Given the description of an element on the screen output the (x, y) to click on. 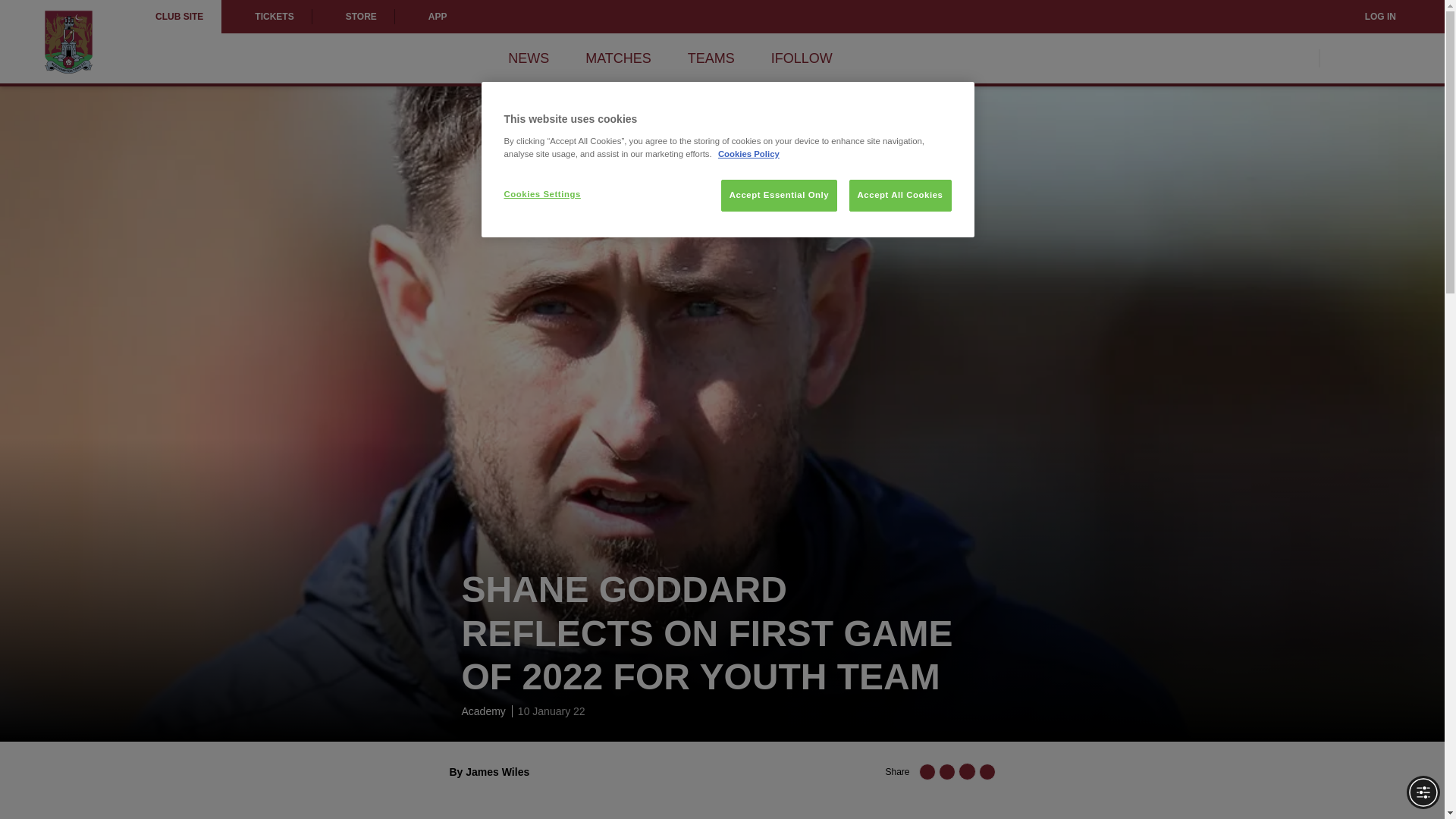
STORE (353, 16)
Accessibility Menu (1422, 792)
MATCHES (617, 58)
Help widget launcher (75, 781)
TICKETS (266, 16)
IFOLLOW (801, 58)
APP (429, 16)
CLUB SITE (178, 16)
TEAMS (711, 58)
